Given the description of an element on the screen output the (x, y) to click on. 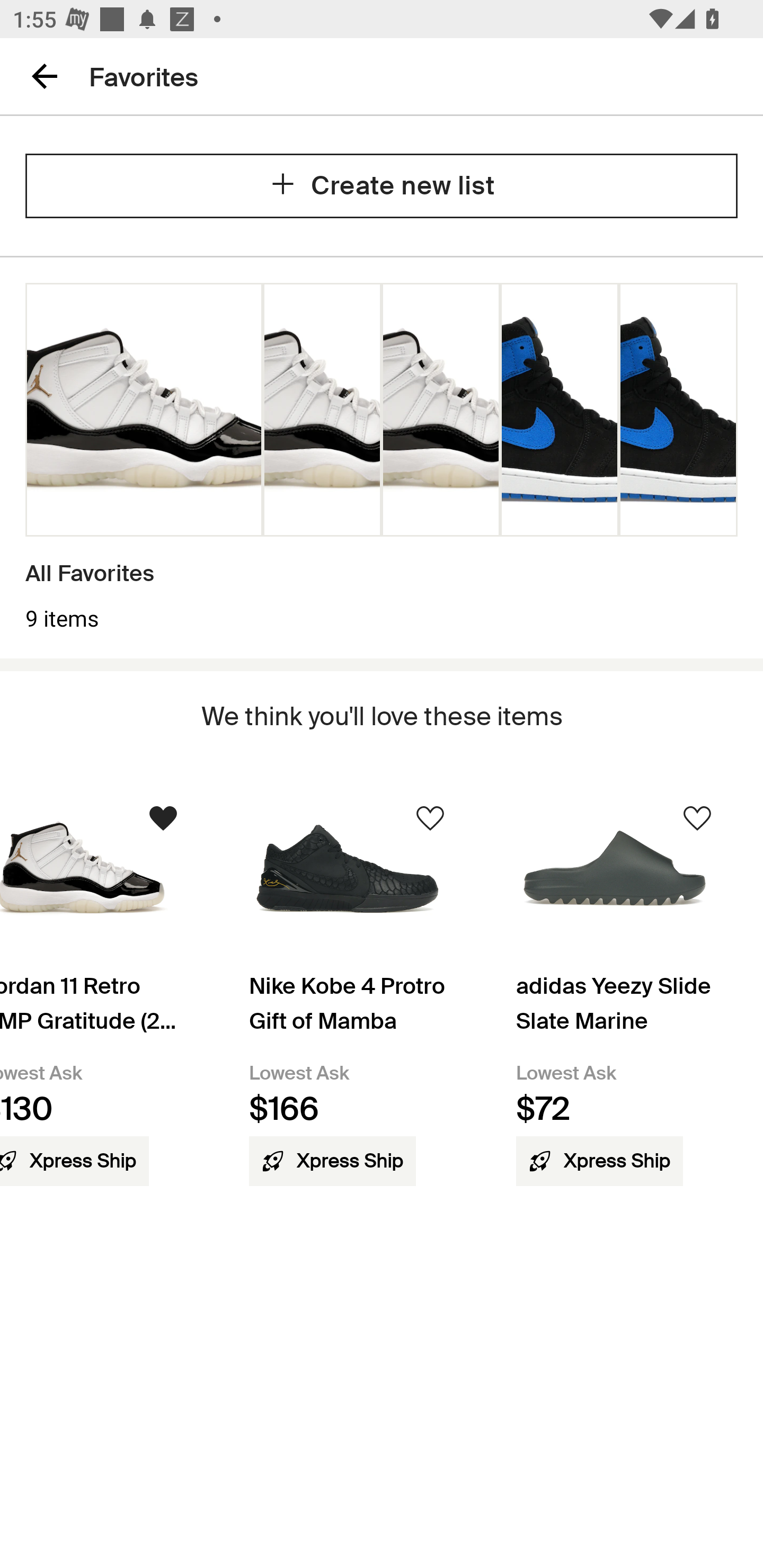
Create new list (381, 185)
All Favorites 9 items (381, 457)
